Given the description of an element on the screen output the (x, y) to click on. 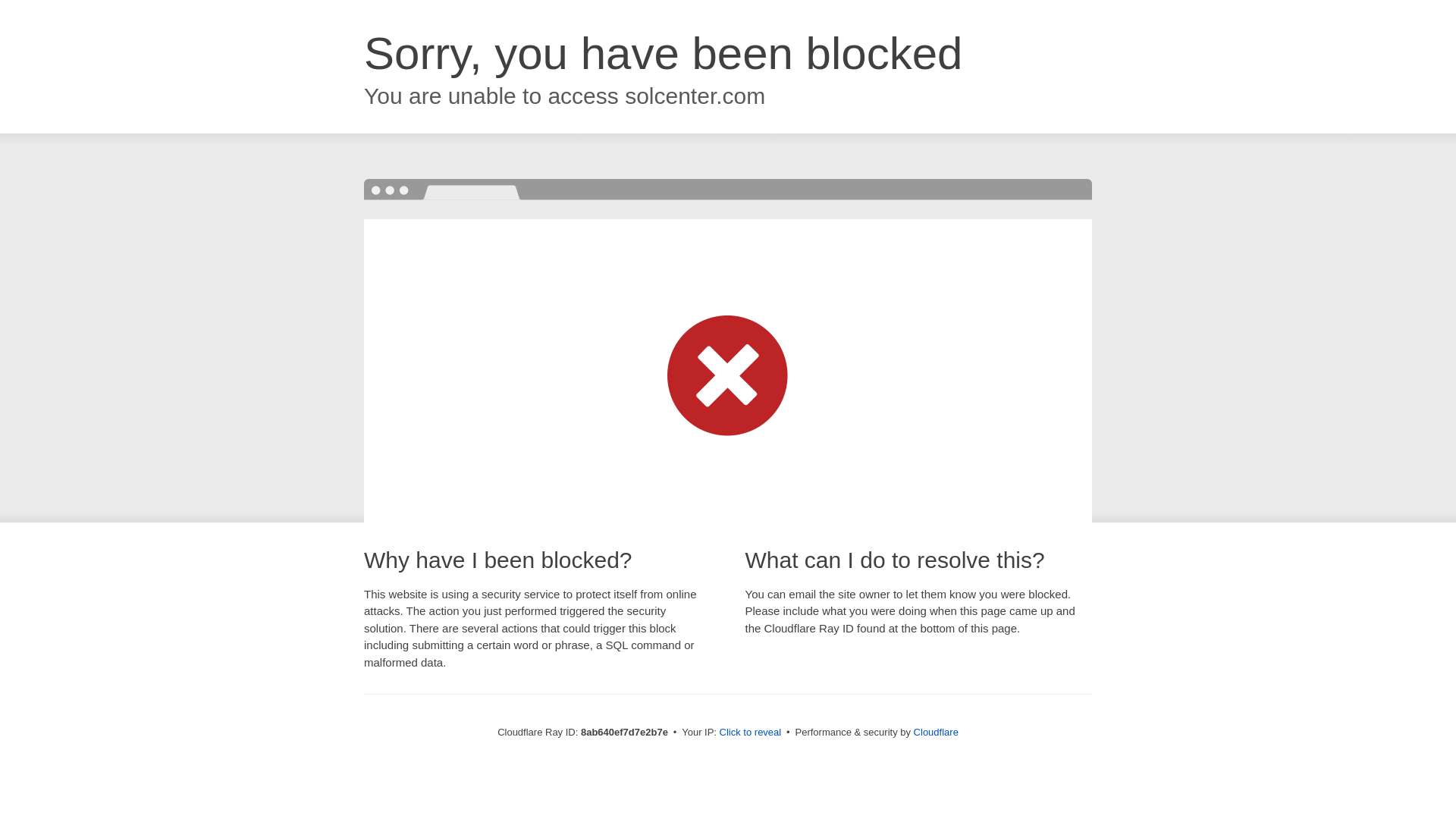
Click to reveal (750, 732)
Cloudflare (936, 731)
